Given the description of an element on the screen output the (x, y) to click on. 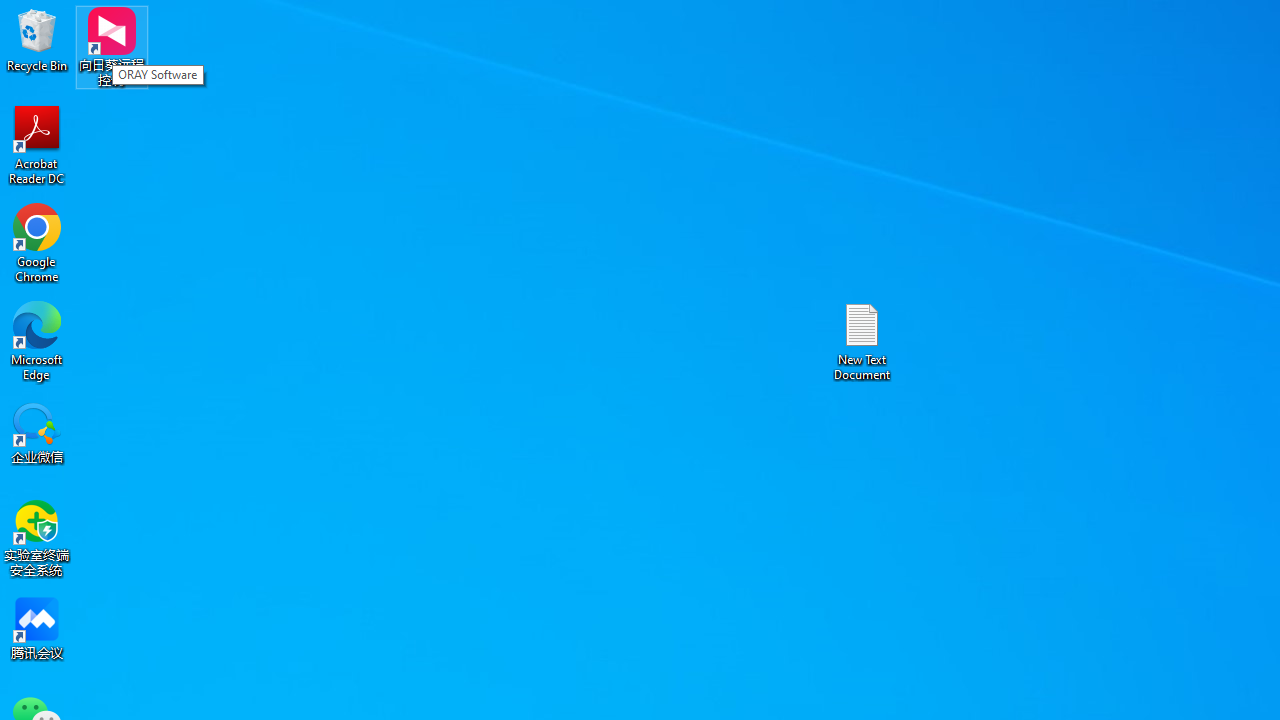
Microsoft Edge (37, 340)
New Text Document (861, 340)
Acrobat Reader DC (37, 144)
Recycle Bin (37, 39)
Google Chrome (37, 242)
